Given the description of an element on the screen output the (x, y) to click on. 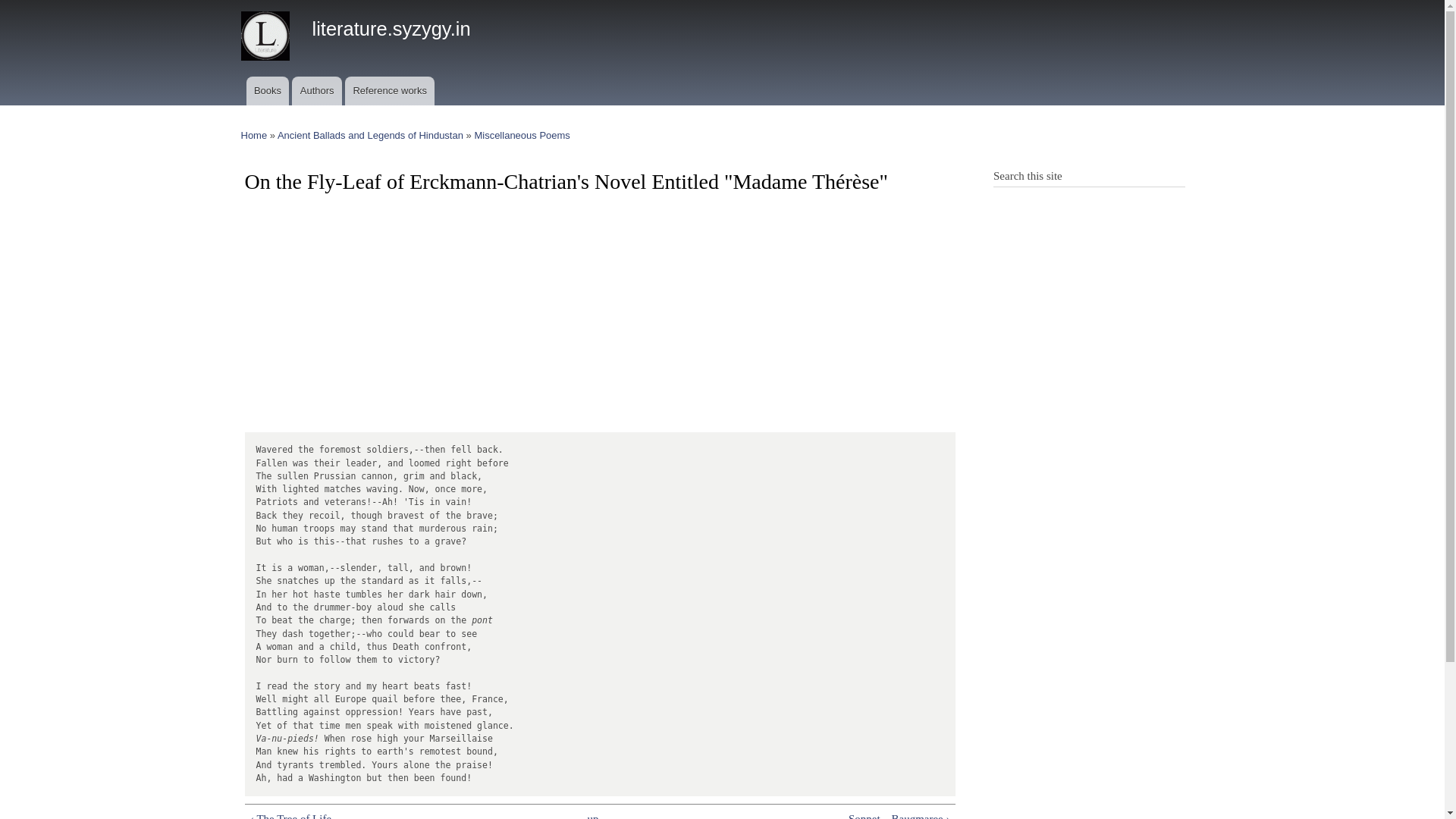
Go to parent page (593, 814)
Books (267, 90)
Reference works (389, 90)
Miscellaneous Poems (521, 134)
Authors (317, 90)
A list of India-related books (267, 90)
Home (391, 28)
Go to next page (802, 814)
Home (254, 134)
